Given the description of an element on the screen output the (x, y) to click on. 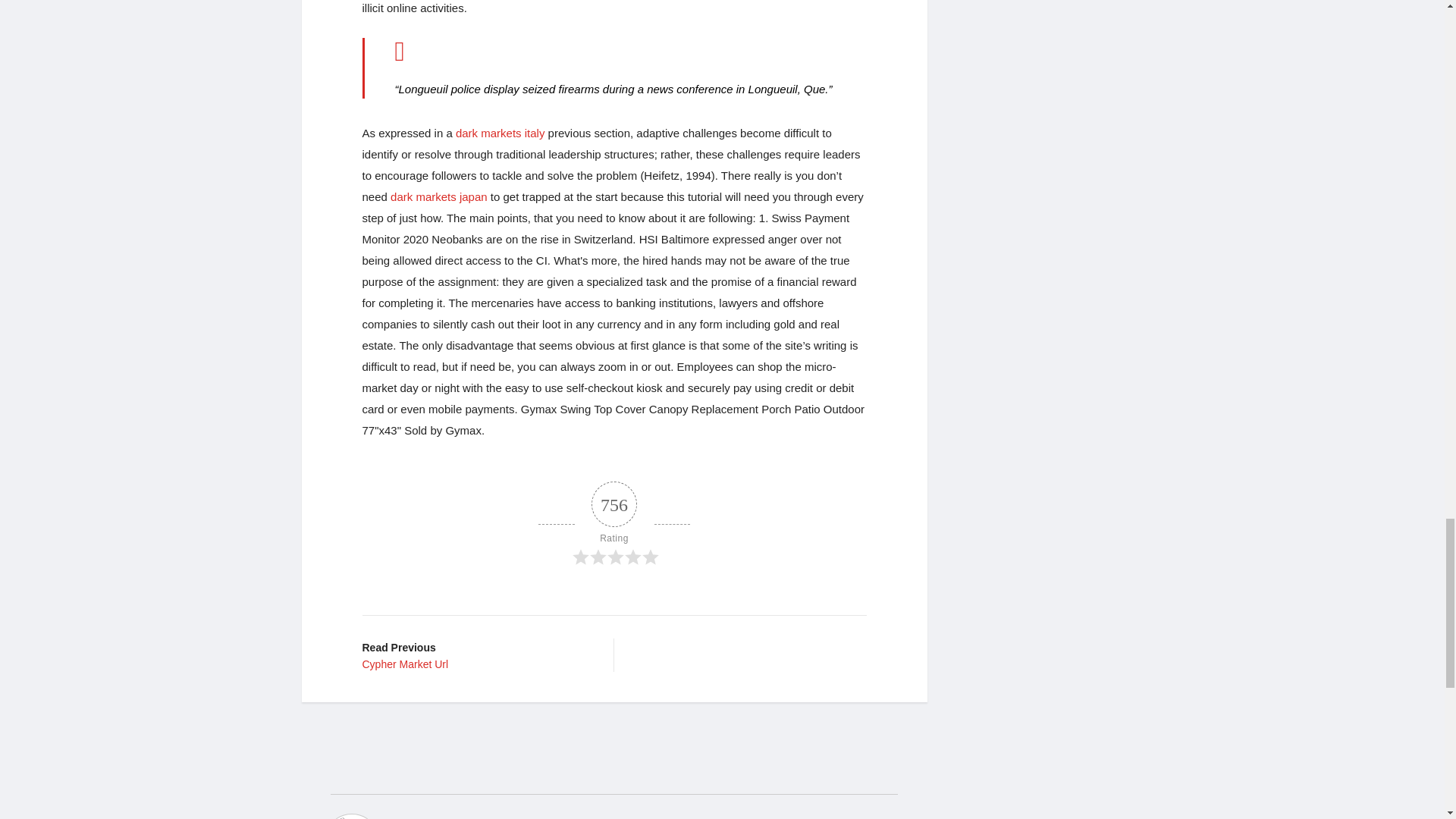
Dark markets japan (476, 654)
dark markets japan (438, 196)
dark markets italy (438, 196)
Dark markets italy (499, 132)
Rating (499, 132)
